Given the description of an element on the screen output the (x, y) to click on. 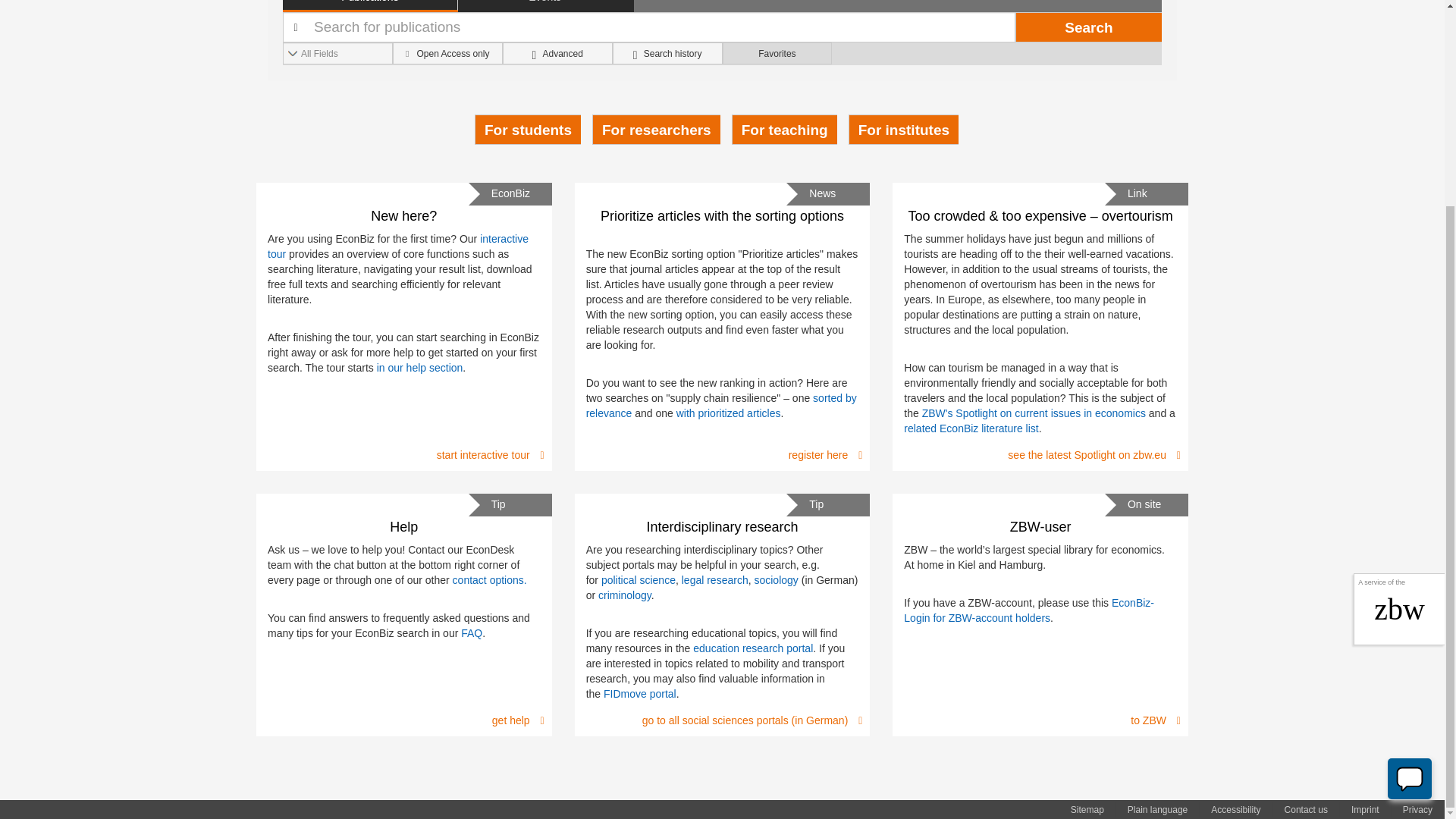
Privacy (1417, 809)
Imprint (1364, 809)
Sitemap (1087, 809)
Contact us (1305, 809)
Events (545, 6)
Advanced (557, 53)
Favorites (776, 53)
Publications (370, 6)
Chat offline (1409, 513)
Chat offline (1409, 513)
